Given the description of an element on the screen output the (x, y) to click on. 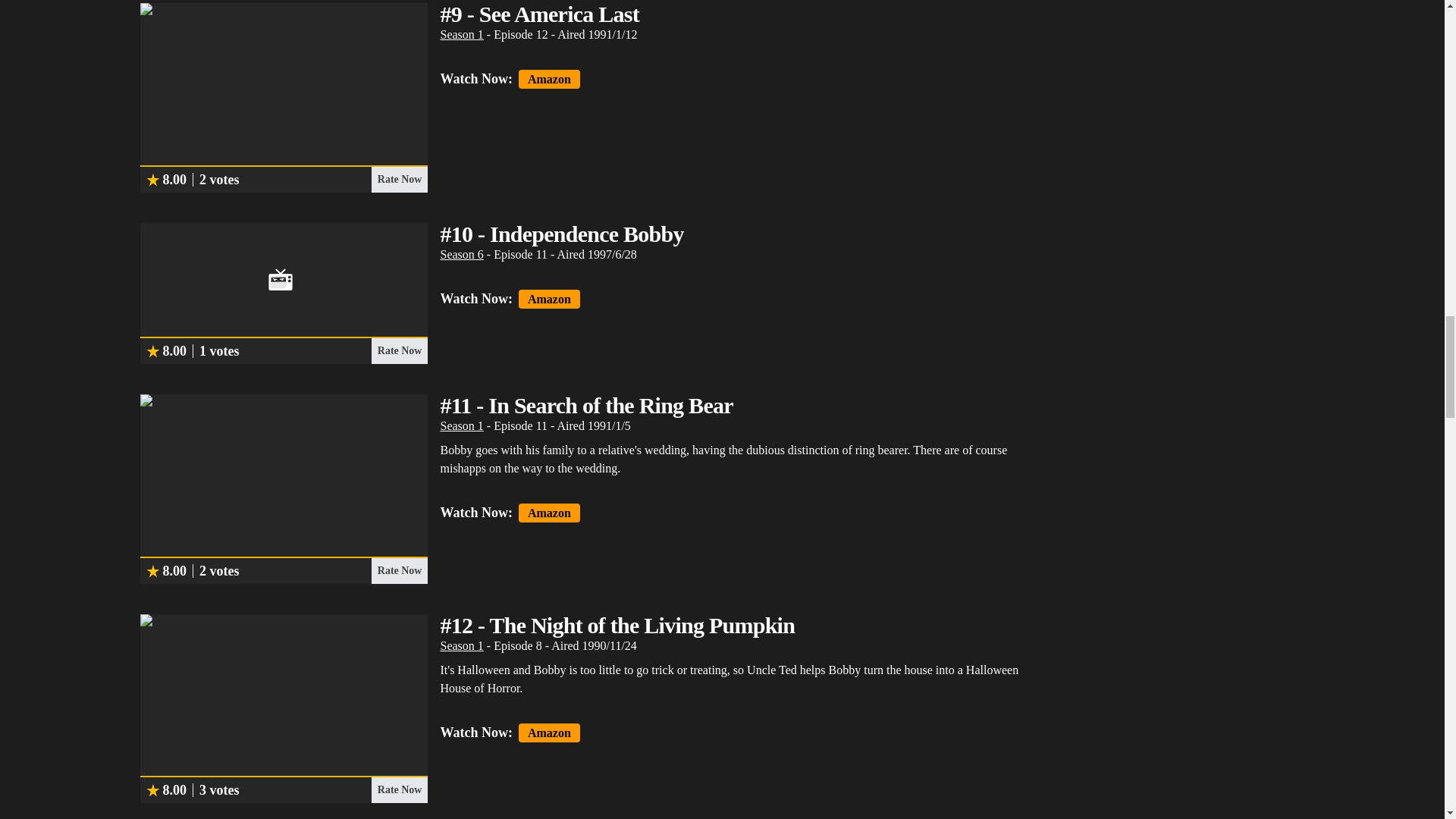
Season 1 (461, 33)
Rate Now (399, 179)
Amazon (548, 78)
